Given the description of an element on the screen output the (x, y) to click on. 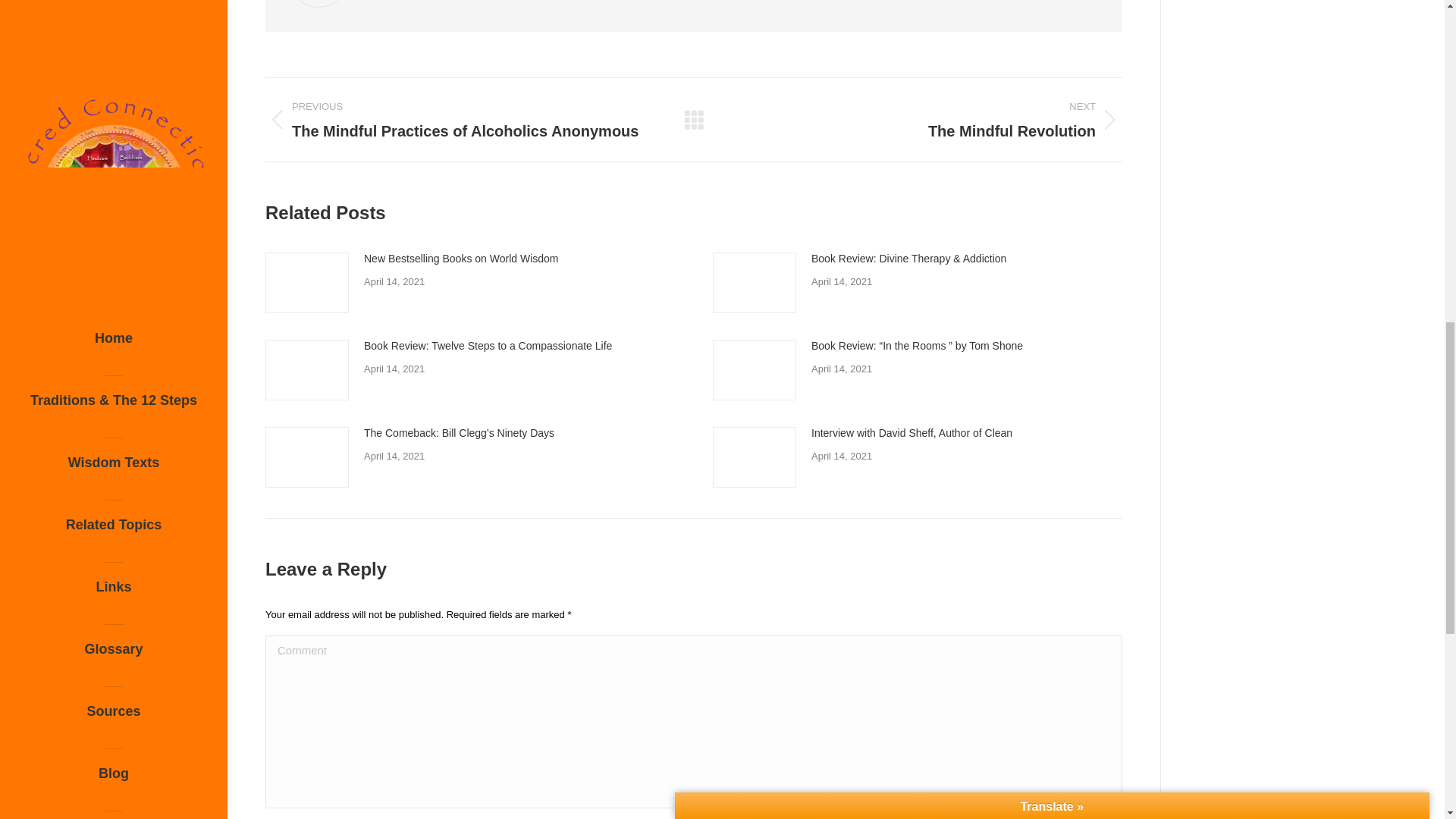
New Additions (113, 208)
Instagram page opens in new window (125, 287)
YouTube page opens in new window (148, 287)
Twitter page opens in new window (102, 287)
About the Project (113, 22)
YouTube page opens in new window (148, 287)
Contact (113, 271)
The Author (113, 84)
Instagram page opens in new window (125, 287)
Facebook page opens in new window (77, 287)
